Given the description of an element on the screen output the (x, y) to click on. 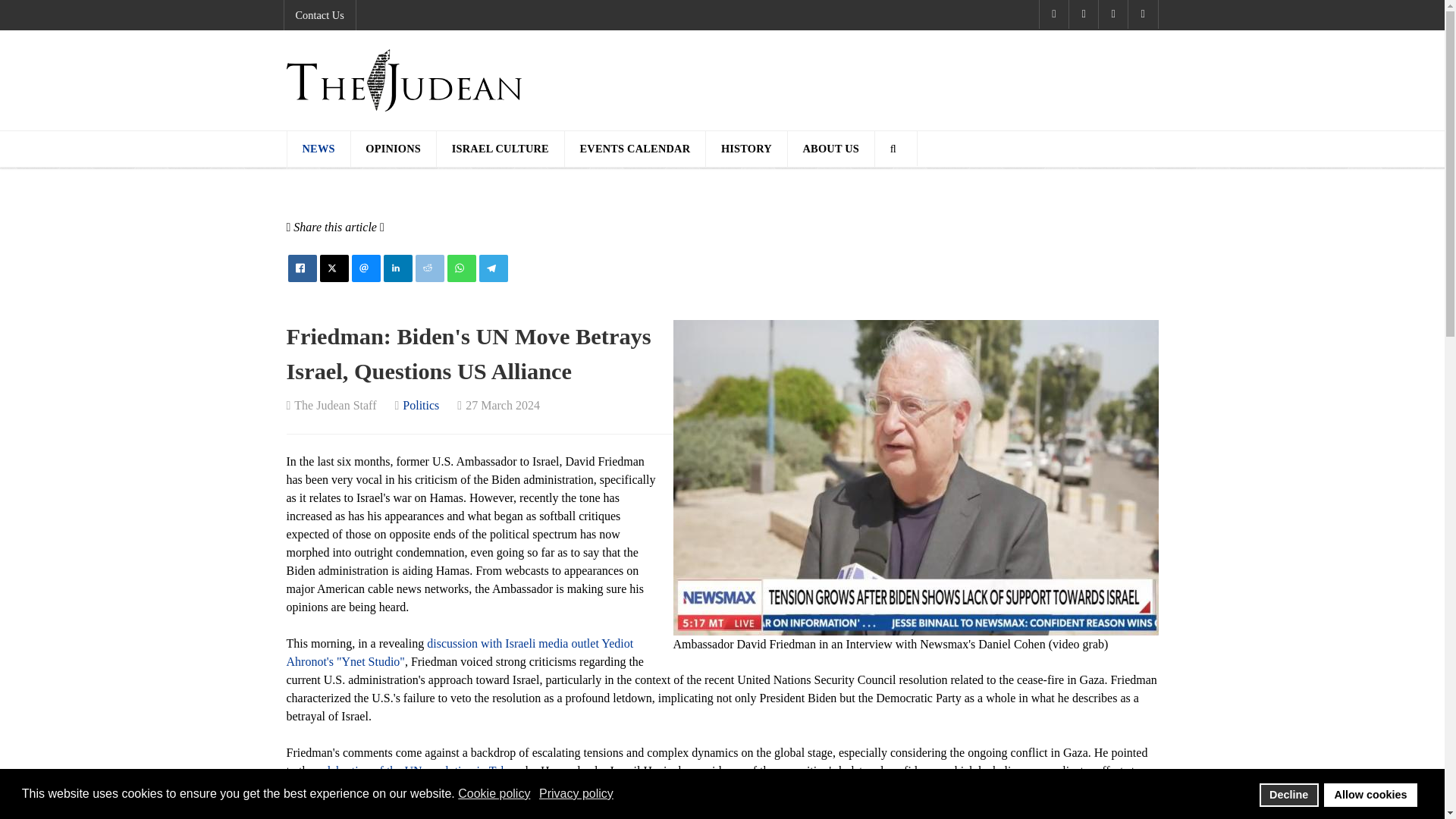
Search (896, 148)
Instagram (1143, 14)
Contact Us (319, 15)
EVENTS CALENDAR (635, 149)
Allow cookies (1369, 794)
Written by:  (331, 404)
ISRAEL CULTURE (500, 149)
NEWS (318, 149)
Privacy policy (576, 793)
Decline (1289, 794)
